Given the description of an element on the screen output the (x, y) to click on. 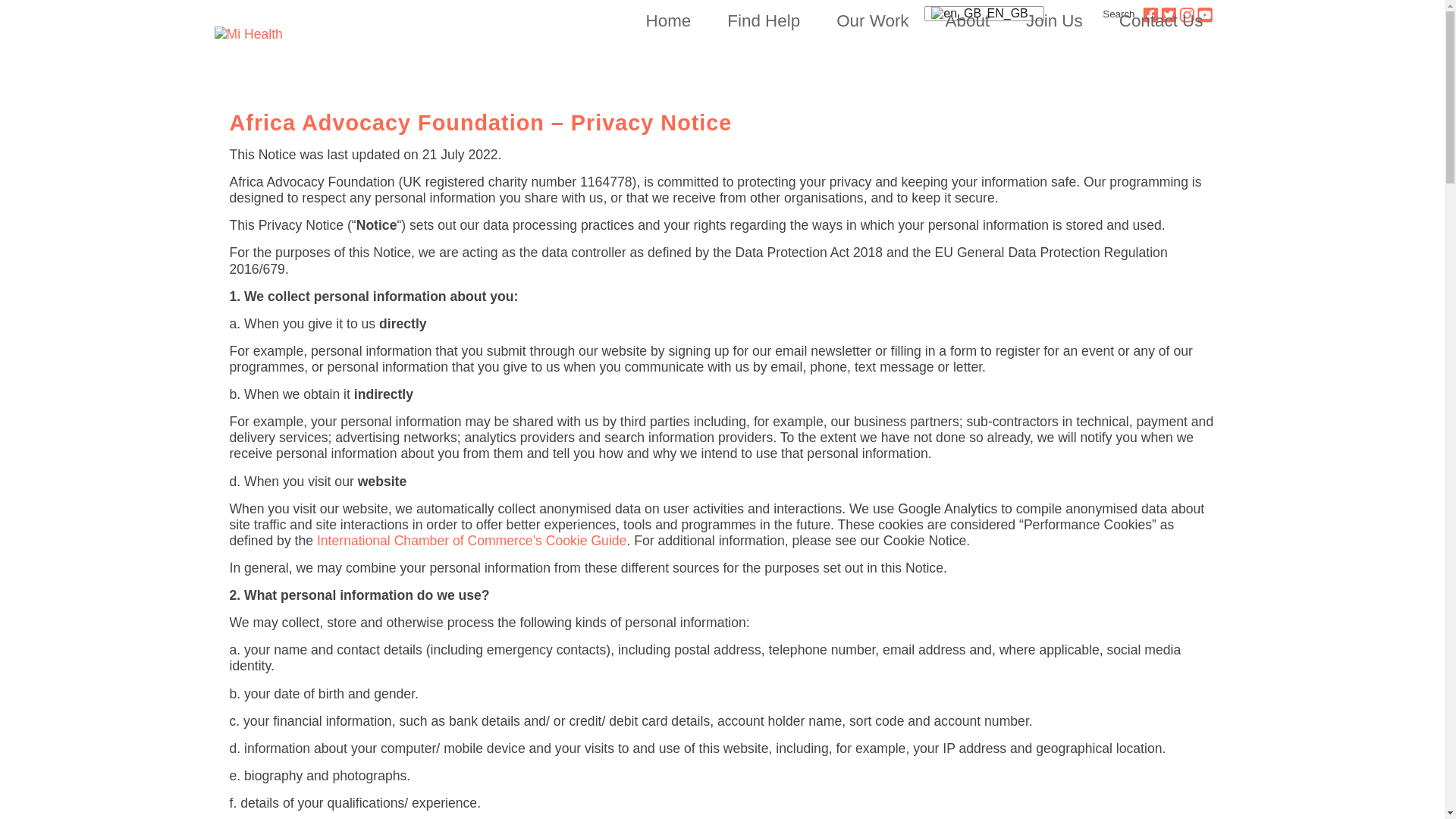
Mi Health (283, 34)
Join Us (1048, 21)
Find Help (757, 21)
English (956, 13)
Home (662, 21)
Our Work (866, 21)
Contact Us (1155, 21)
About (961, 21)
English (977, 13)
Search (1112, 13)
